Given the description of an element on the screen output the (x, y) to click on. 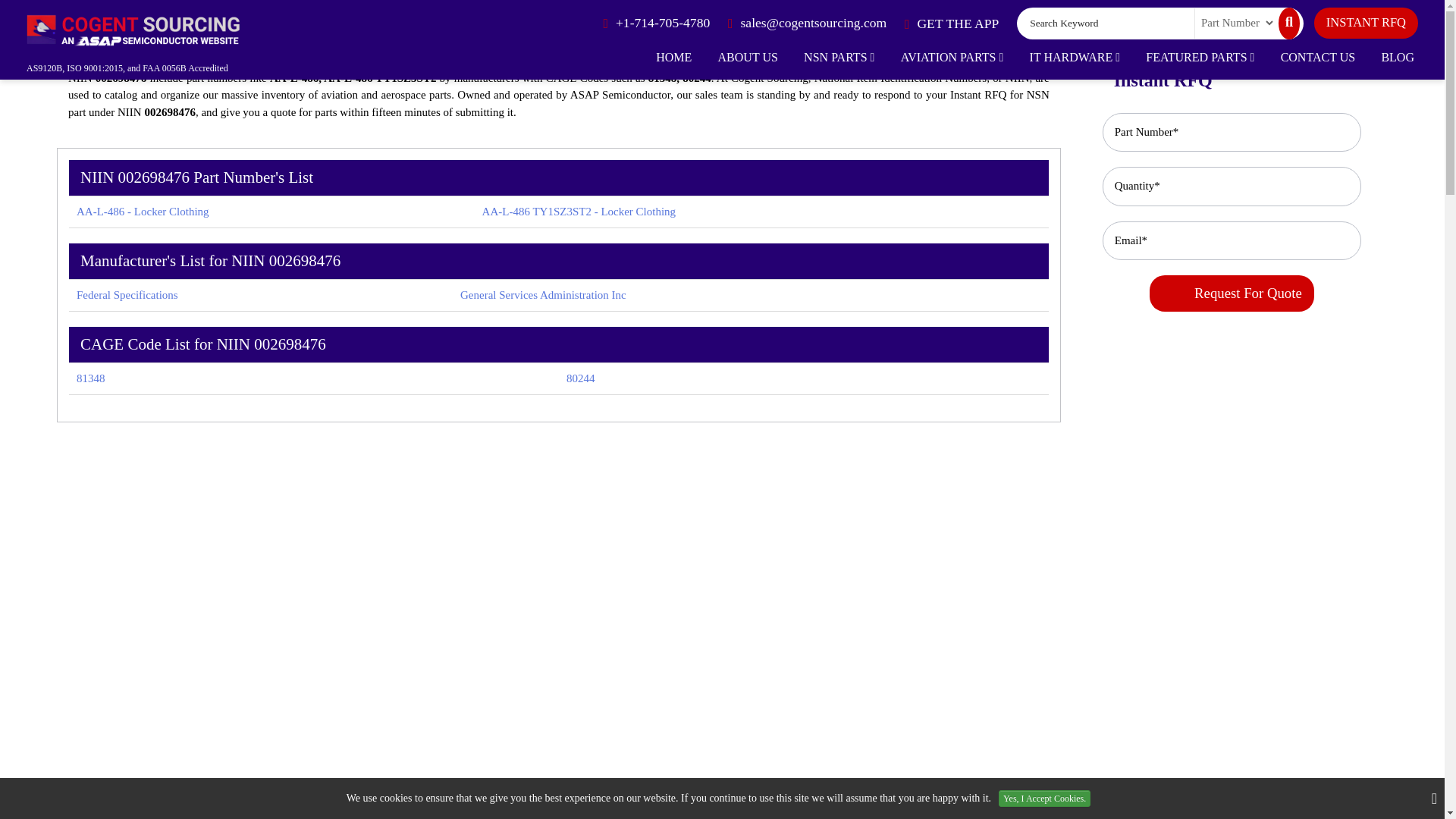
INSTANT RFQ (1366, 22)
NSN PARTS (838, 57)
IT HARDWARE (1075, 57)
GET THE APP (951, 23)
AVIATION PARTS (951, 57)
HOME (673, 57)
ABOUT US (747, 57)
FEATURED PARTS (1199, 57)
